Given the description of an element on the screen output the (x, y) to click on. 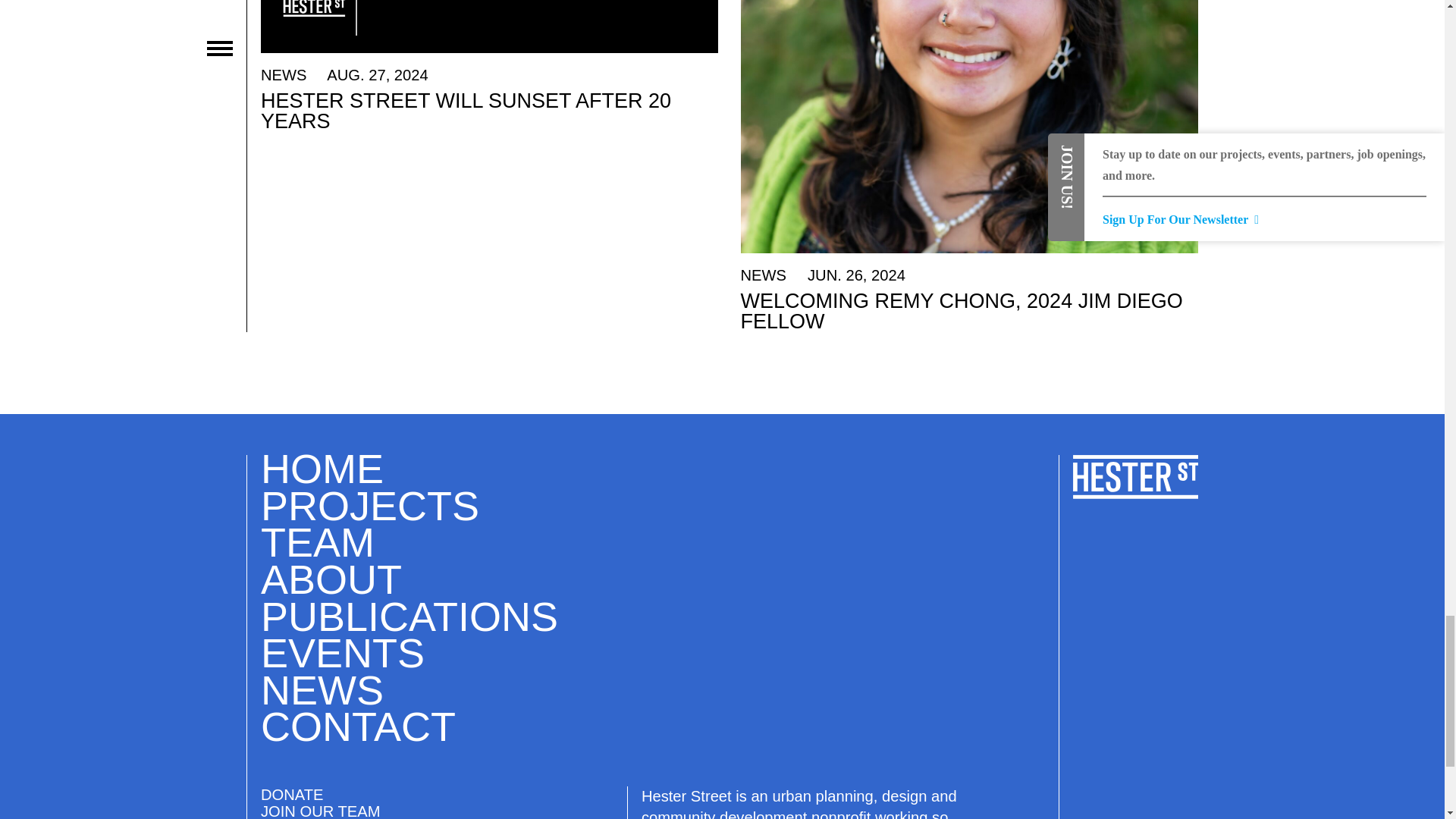
HOME (322, 468)
PUBLICATIONS (408, 616)
ABOUT (330, 578)
Read more (488, 65)
CONTACT (357, 726)
DONATE (291, 794)
TEAM (317, 542)
NEWS (322, 689)
